Given the description of an element on the screen output the (x, y) to click on. 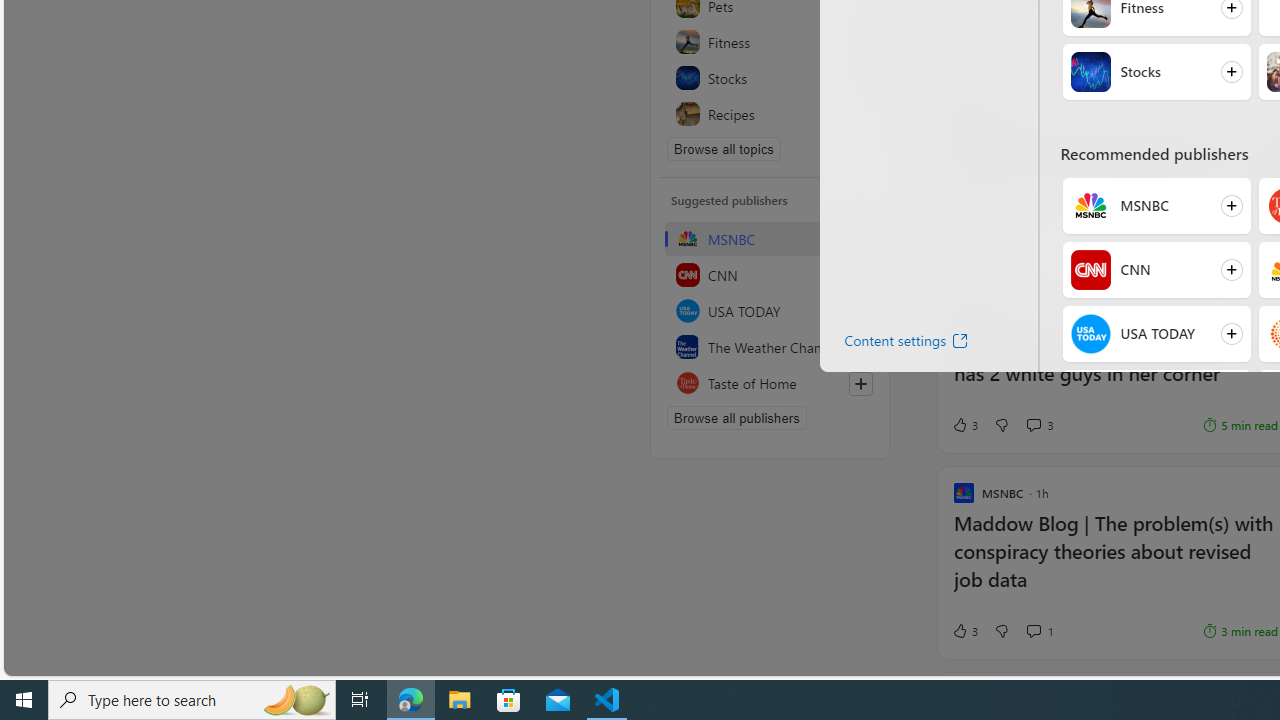
Follow USA TODAY (1156, 334)
Fitness (770, 42)
View comments 3 Comment (1039, 425)
USA TODAY (1090, 333)
3 Like (964, 630)
View comments 1 Comment (1033, 630)
The Weather Channel (770, 346)
Follow this source (860, 384)
Taste of Home (770, 382)
Follow this topic (860, 114)
Start the conversation (1033, 246)
Stocks (1090, 71)
CNN (1090, 269)
